Given the description of an element on the screen output the (x, y) to click on. 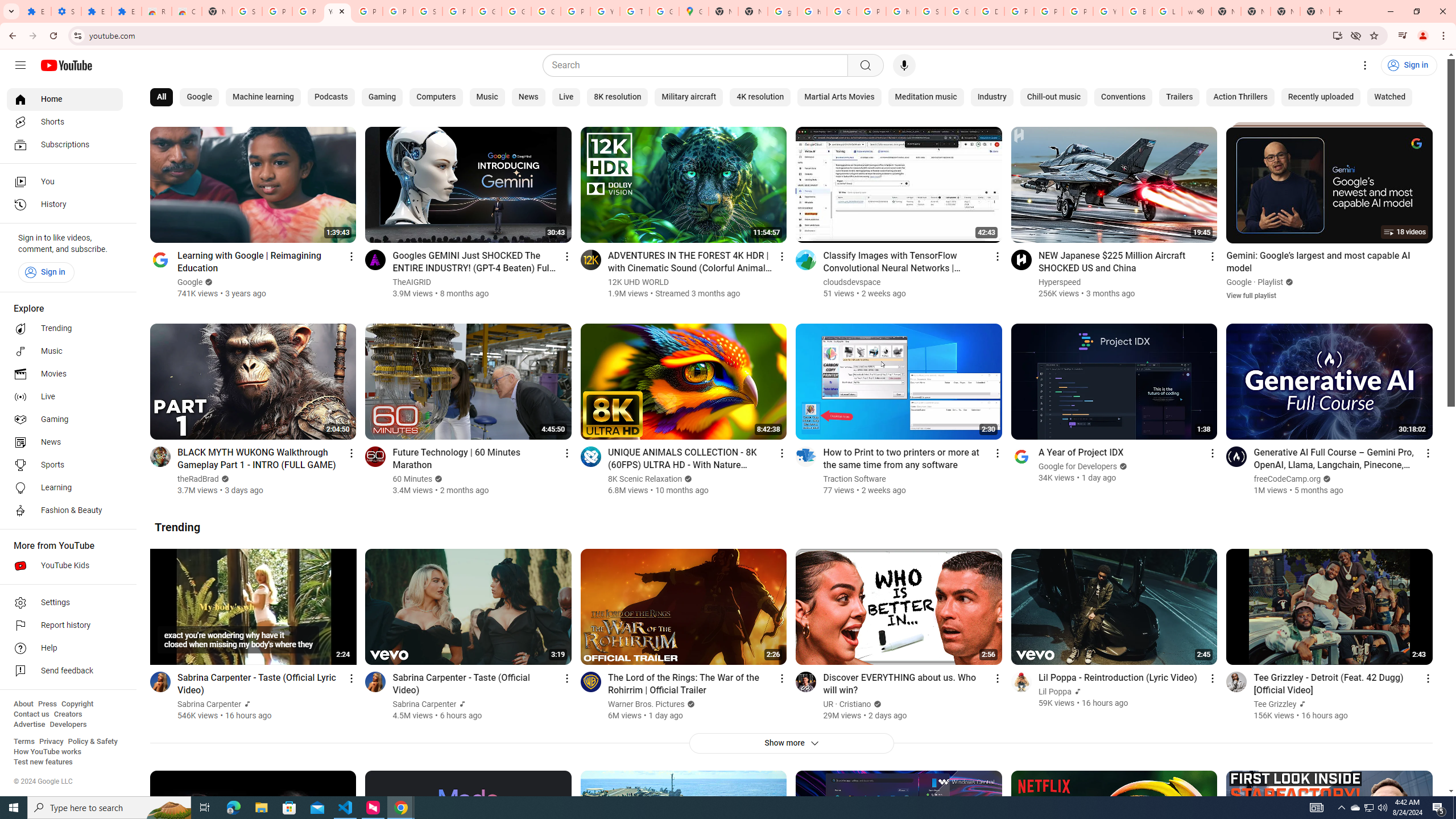
Help (64, 648)
New Tab (1284, 11)
Advertise (29, 724)
Google Account (515, 11)
Sabrina Carpenter (425, 704)
Privacy Help Center - Policies Help (1048, 11)
Music (64, 350)
https://scholar.google.com/ (811, 11)
Shorts (64, 121)
